Given the description of an element on the screen output the (x, y) to click on. 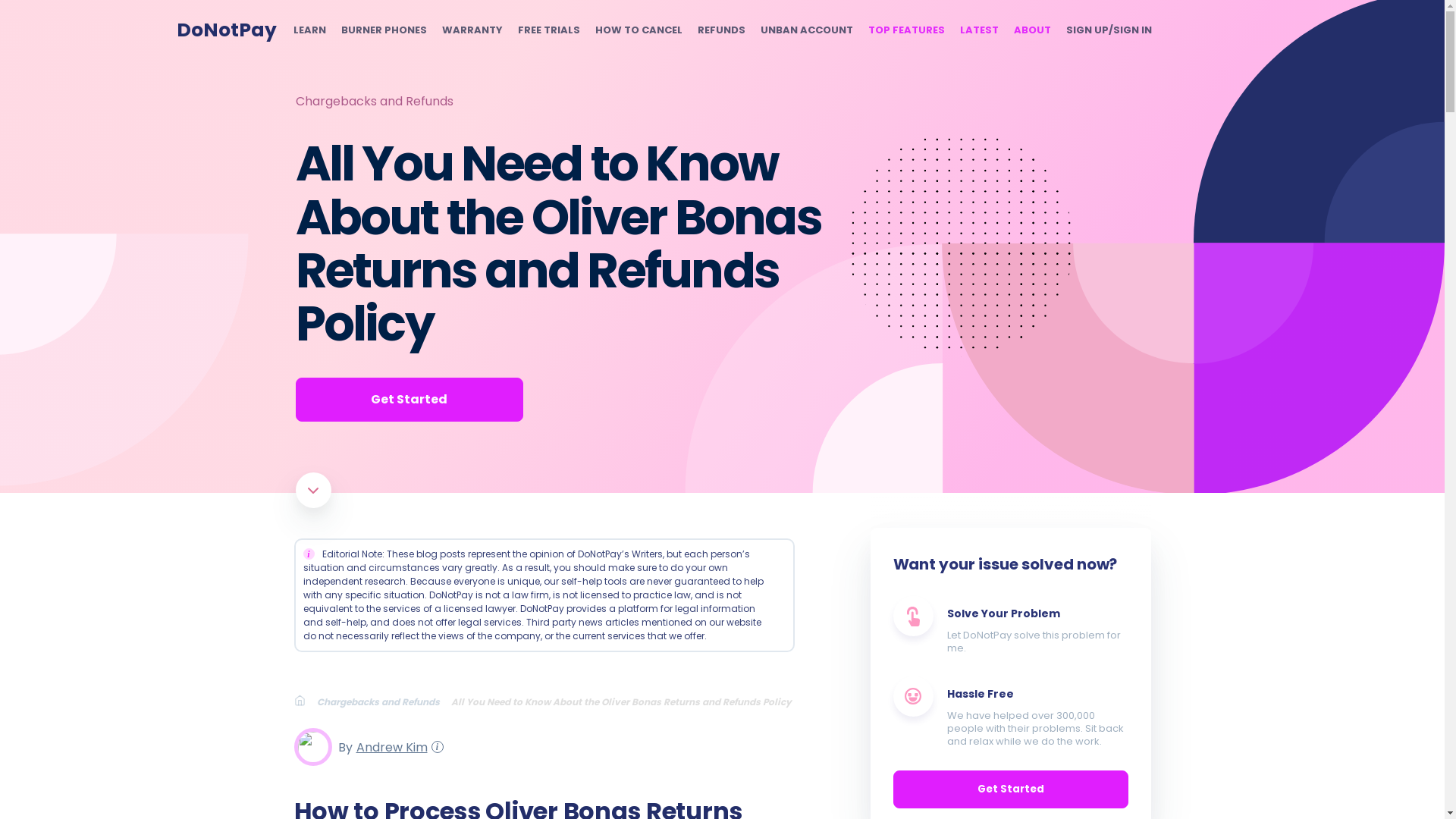
Chargebacks and Refunds (373, 100)
BURNER PHONES (383, 29)
ABOUT (1031, 29)
Andrew Kim (389, 746)
LATEST (978, 29)
REFUNDS (721, 29)
Get Started (408, 399)
UNBAN ACCOUNT (805, 29)
DoNotPay (226, 29)
HOW TO CANCEL (637, 29)
WARRANTY (471, 29)
FREE TRIALS (547, 29)
LEARN (308, 29)
Chargebacks and Refunds (384, 700)
TOP FEATURES (905, 29)
